Given the description of an element on the screen output the (x, y) to click on. 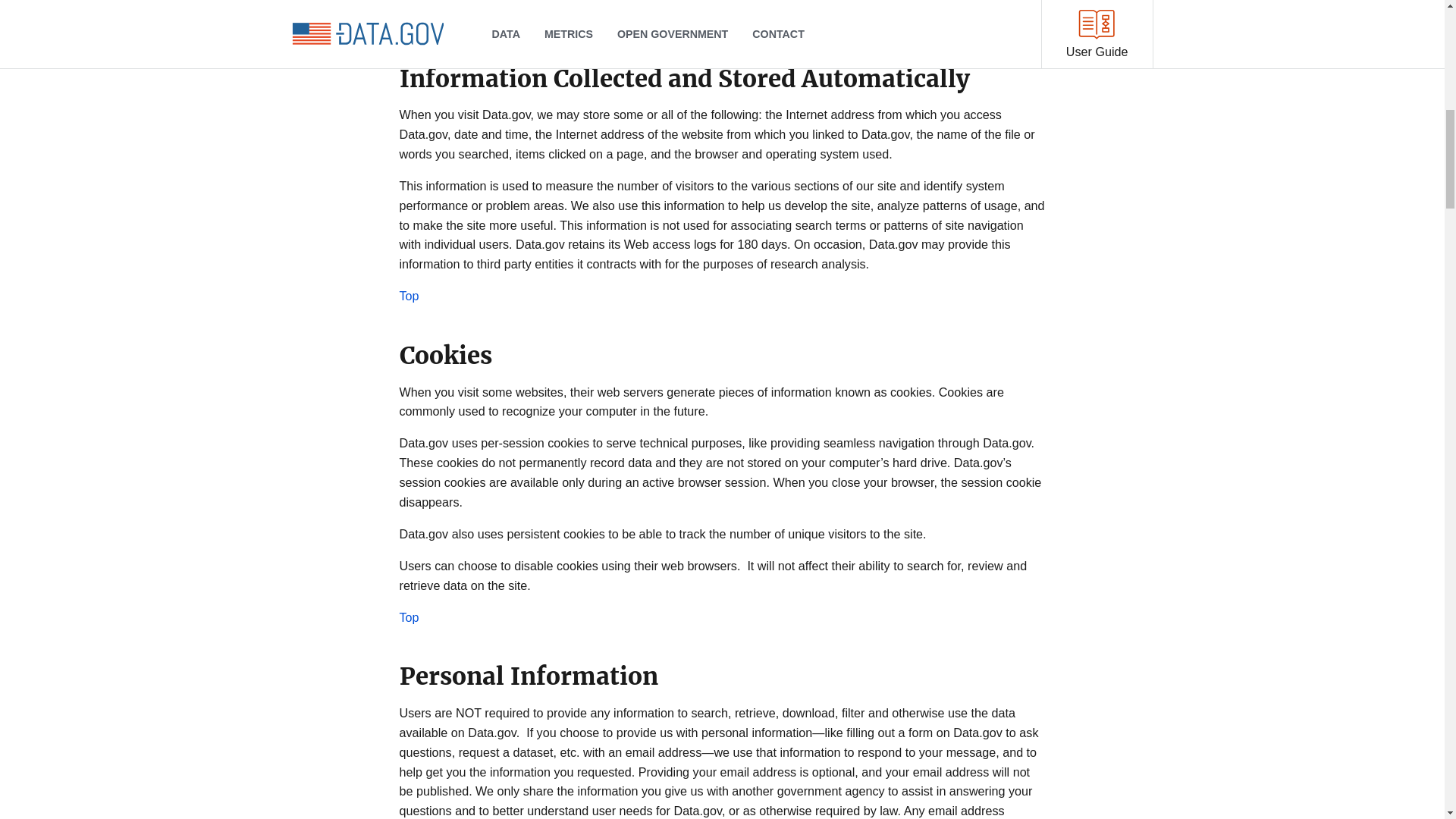
Top (408, 617)
please let us know (830, 18)
Top (408, 295)
